Given the description of an element on the screen output the (x, y) to click on. 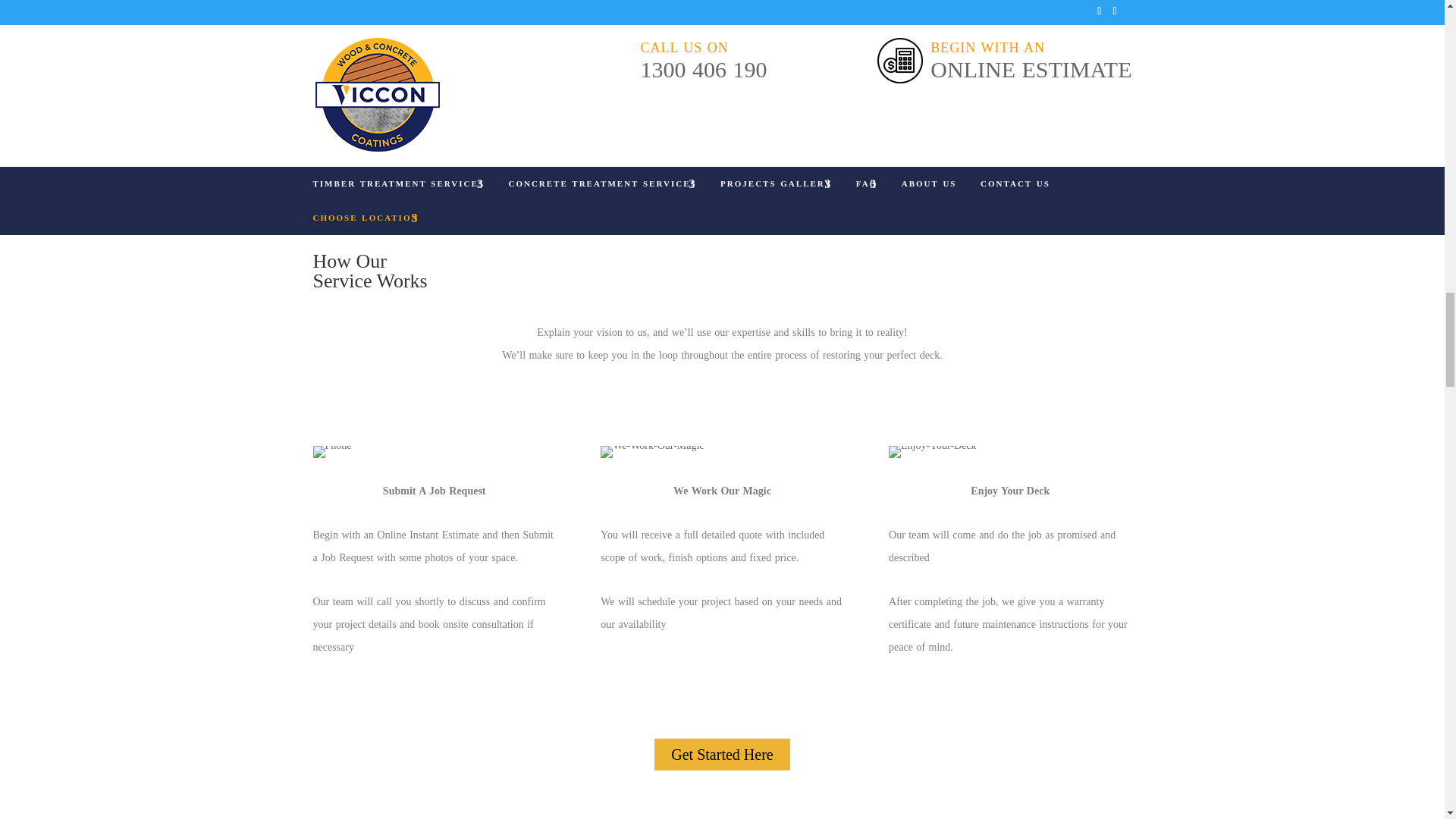
We-Work-Our-Magic (651, 451)
Phone-2 (331, 451)
Enjoy-Your-Deck (931, 451)
